Given the description of an element on the screen output the (x, y) to click on. 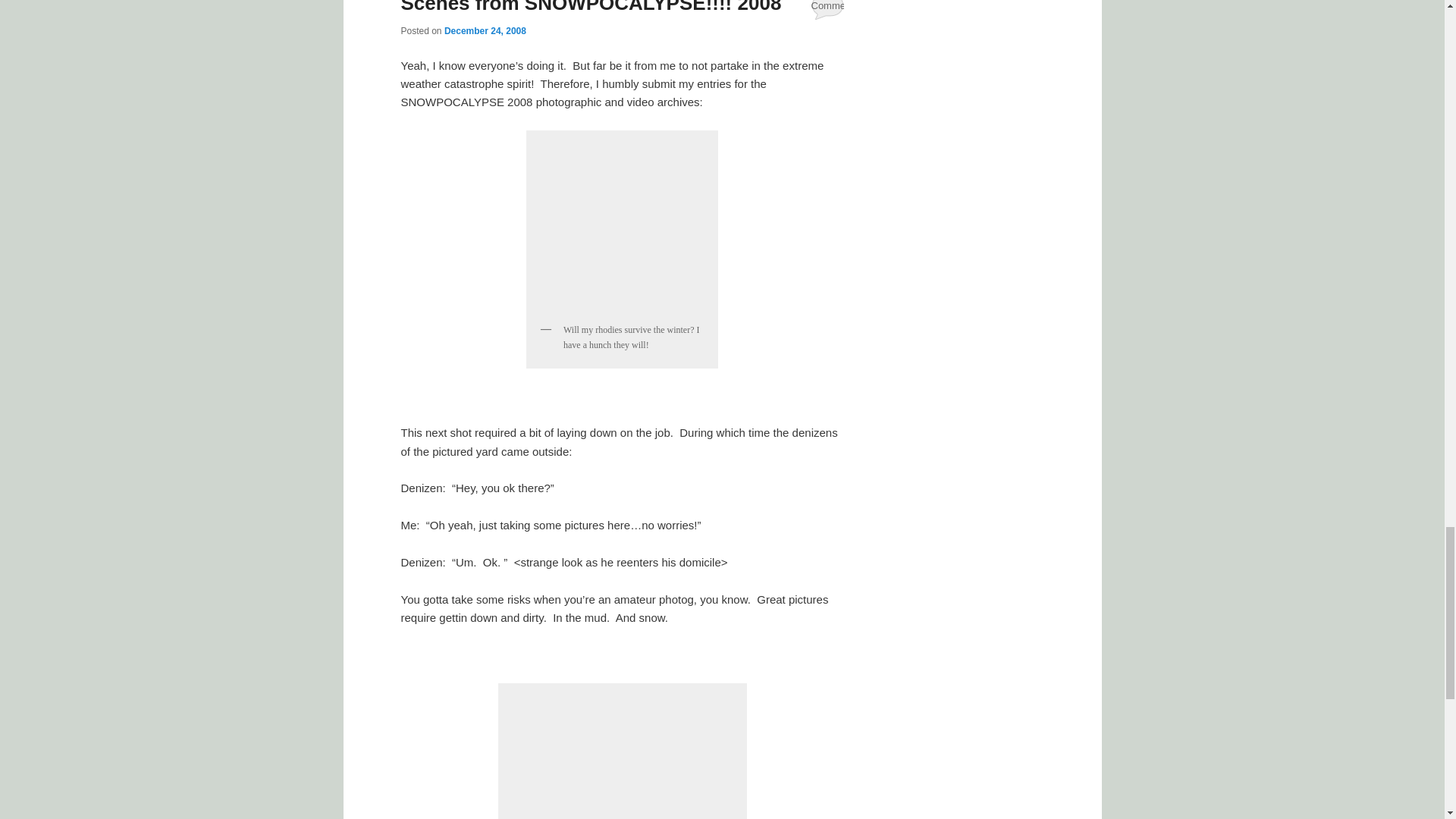
dsc02010 (622, 754)
9:44 pm (484, 30)
dsc02024 (621, 226)
